Given the description of an element on the screen output the (x, y) to click on. 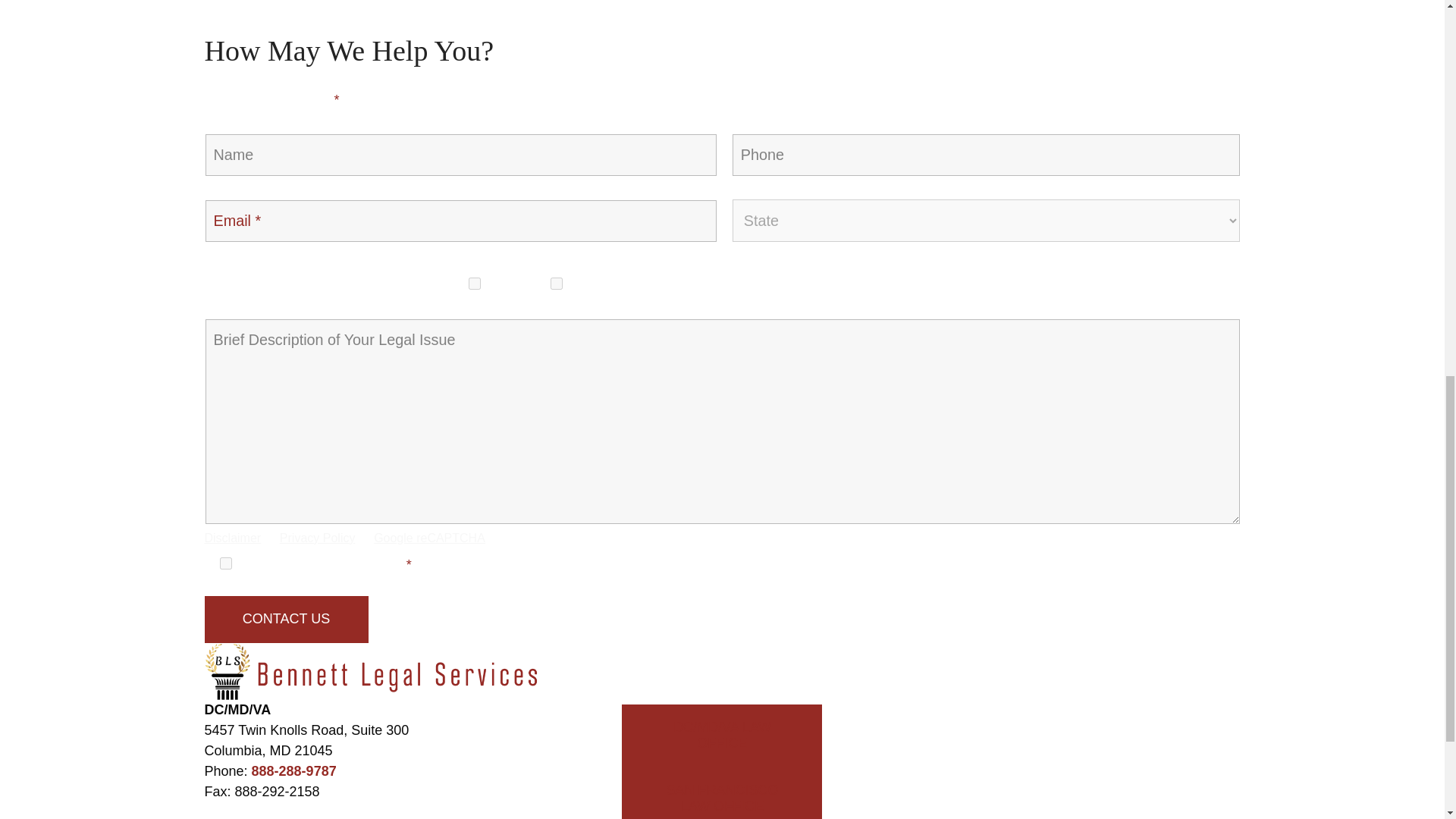
SAN FRANCISCO LAW OFFICE (721, 793)
logo (377, 671)
CONTACT US (286, 619)
CONTACT US (286, 619)
Disclaimer (233, 537)
Email (556, 283)
888-288-9787 (293, 770)
Phone (474, 283)
Privacy Policy (317, 537)
